Given the description of an element on the screen output the (x, y) to click on. 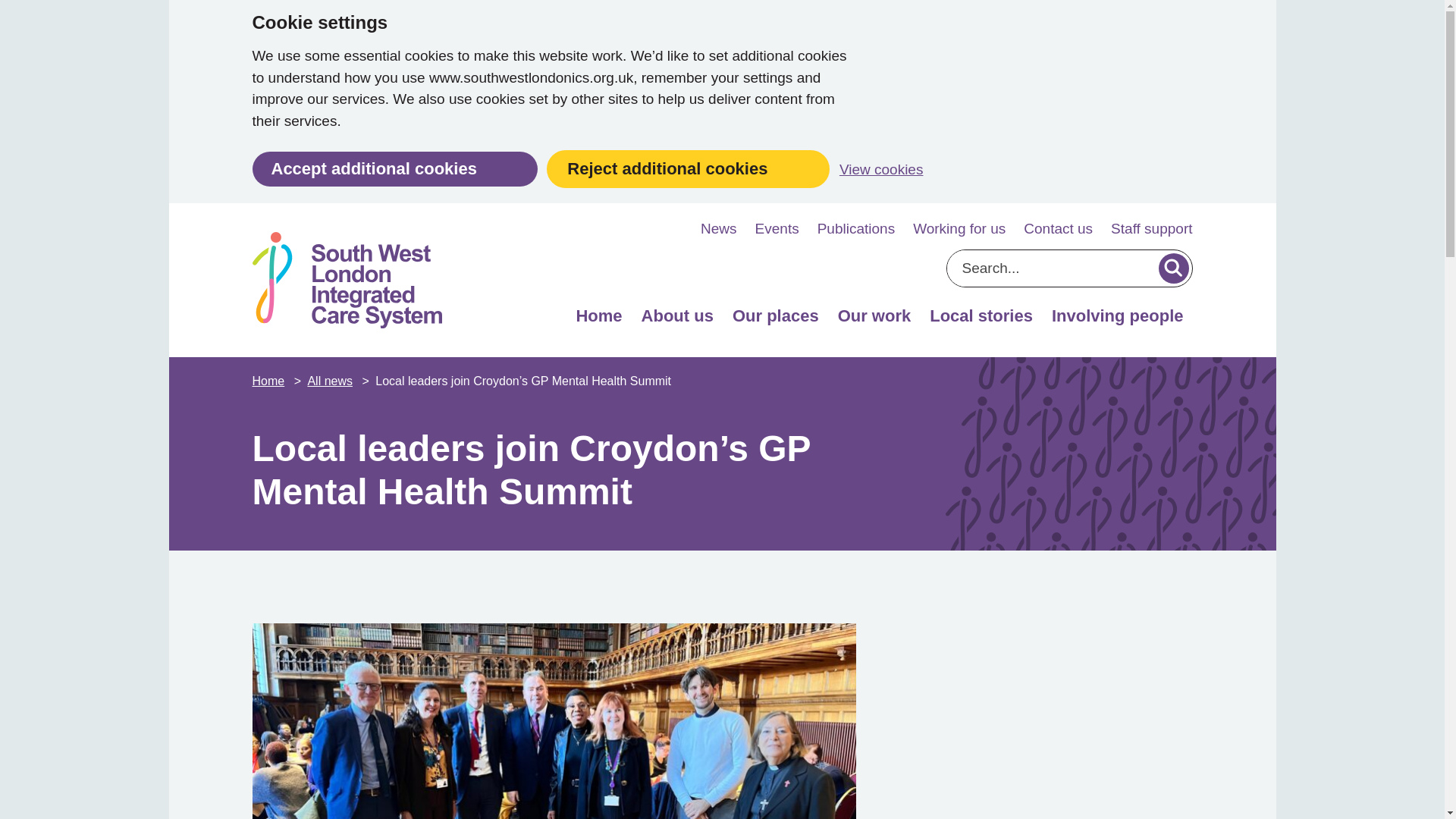
News (718, 229)
Reject additional cookies (688, 168)
Our work (874, 319)
Contact us (1058, 229)
Local stories (981, 319)
Go to All news. (331, 381)
Publications (855, 229)
Home (598, 319)
Our places (775, 319)
Working for us (959, 229)
South West London ICS Homepage (346, 279)
Accept additional cookies (394, 168)
View cookies (881, 169)
Go to Home. (268, 381)
Events (777, 229)
